Given the description of an element on the screen output the (x, y) to click on. 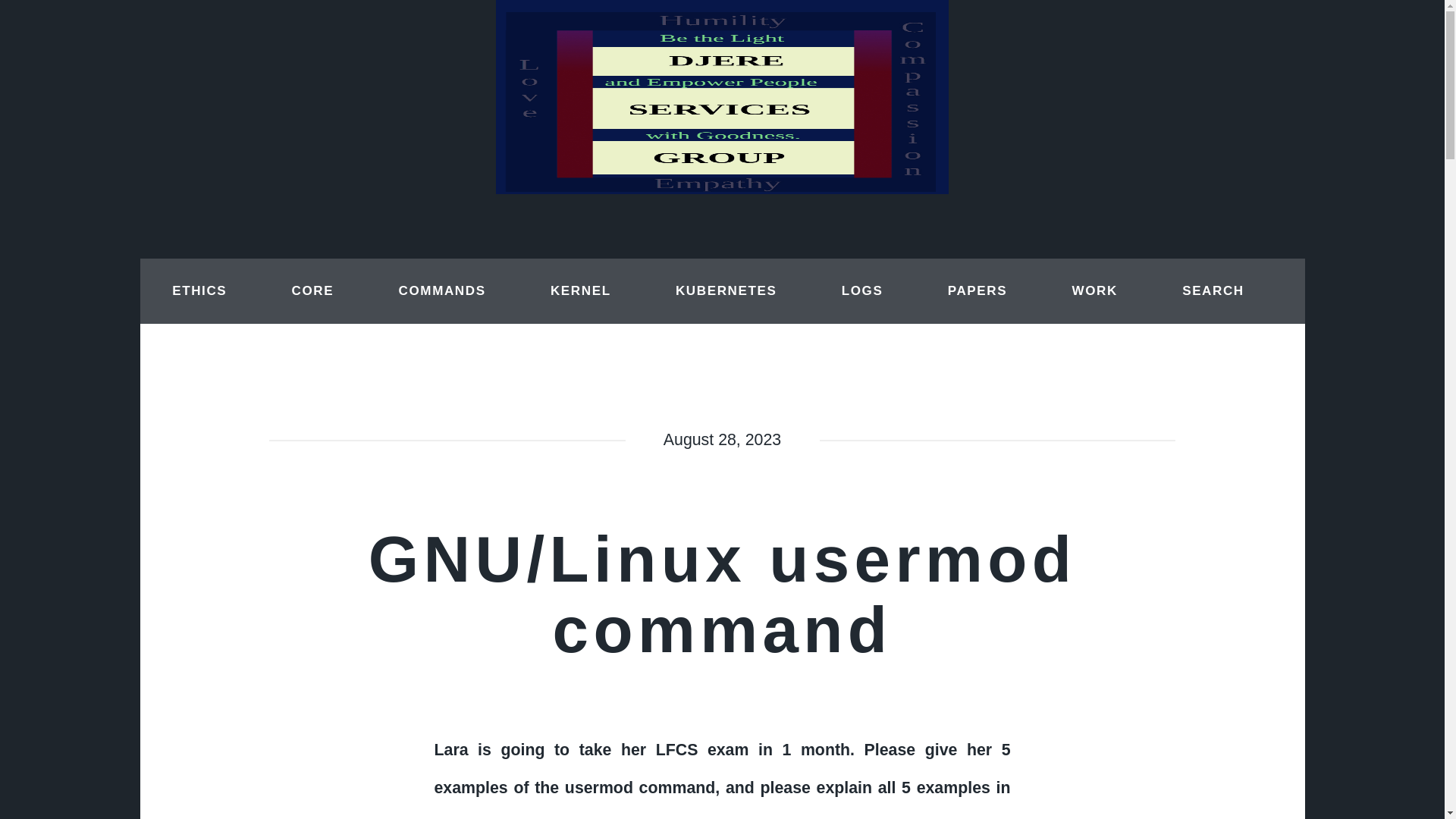
KUBERNETES (726, 290)
LOGS (862, 290)
KERNEL (580, 290)
WORK (1094, 290)
ETHICS (199, 290)
SEARCH (1213, 290)
COMMANDS (442, 290)
CORE (312, 290)
PAPERS (977, 290)
